Given the description of an element on the screen output the (x, y) to click on. 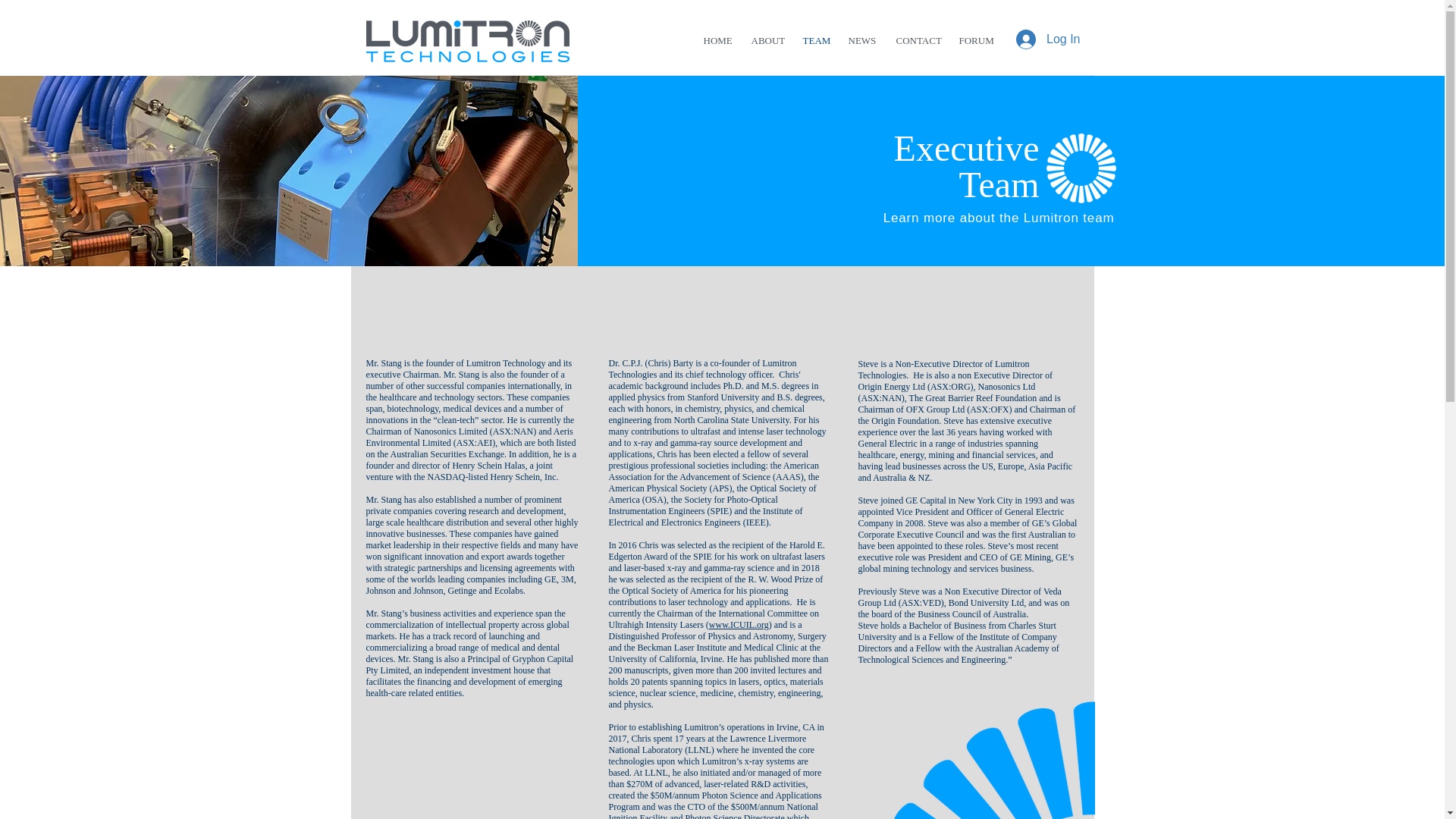
Log In (1048, 39)
CONTACT (915, 40)
FORUM (974, 40)
NEWS (861, 40)
HOME (715, 40)
TEAM (814, 40)
www.ICUIL.org (738, 624)
ABOUT (765, 40)
